Given the description of an element on the screen output the (x, y) to click on. 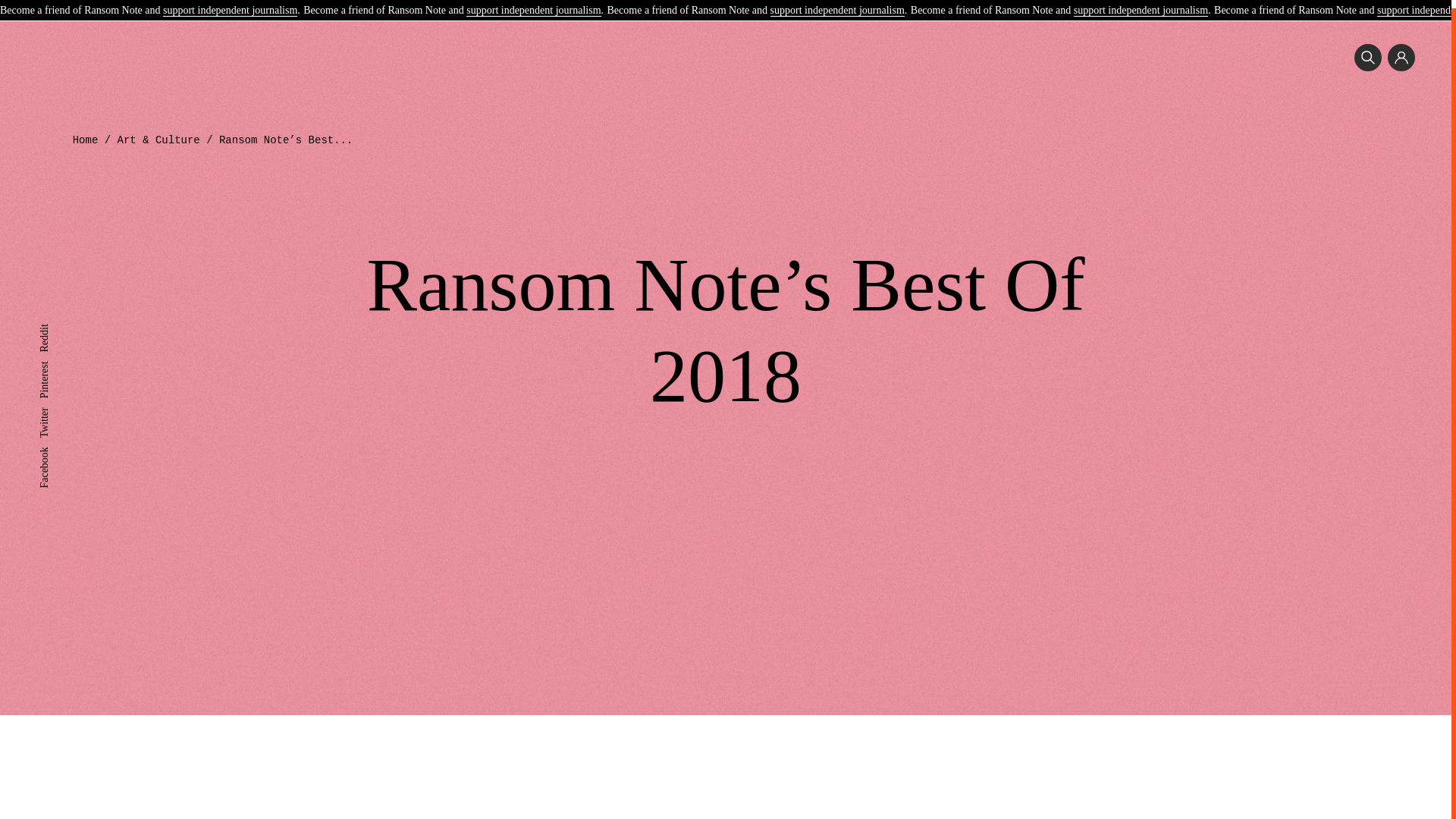
Pinterest (57, 358)
support independent journalism (230, 4)
support independent journalism (837, 4)
Home (85, 140)
support independent journalism (1141, 4)
Reddit (52, 321)
Twitter (53, 404)
Facebook (59, 444)
support independent journalism (532, 4)
